Given the description of an element on the screen output the (x, y) to click on. 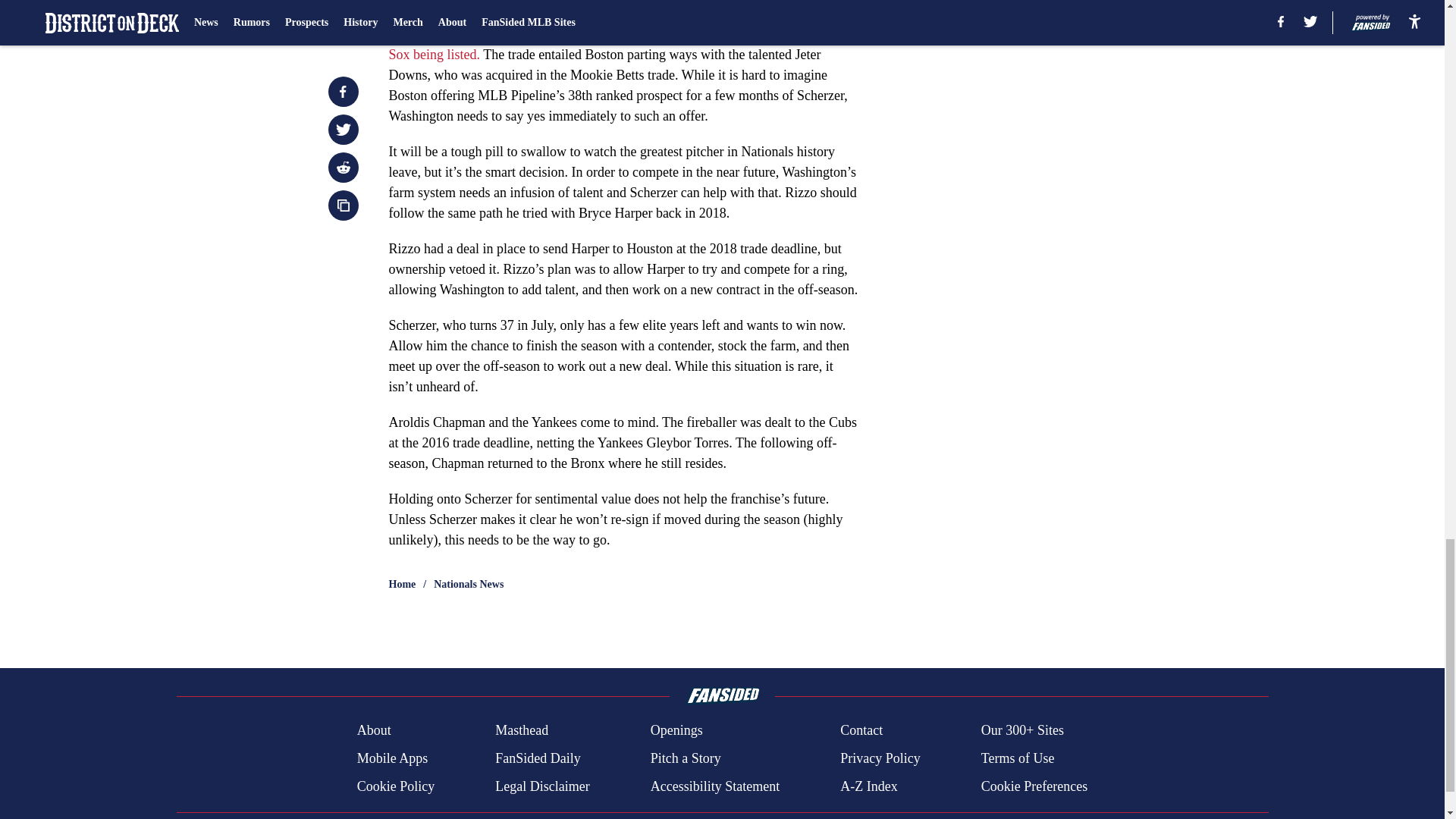
Masthead (521, 730)
Terms of Use (1017, 758)
FanSided Daily (537, 758)
Mobile Apps (392, 758)
Contact (861, 730)
Legal Disclaimer (542, 786)
A-Z Index (868, 786)
with the Boston Red Sox being listed. (614, 44)
Openings (676, 730)
Cookie Preferences (1034, 786)
Home (401, 584)
About (373, 730)
Privacy Policy (880, 758)
Cookie Policy (395, 786)
Pitch a Story (685, 758)
